Given the description of an element on the screen output the (x, y) to click on. 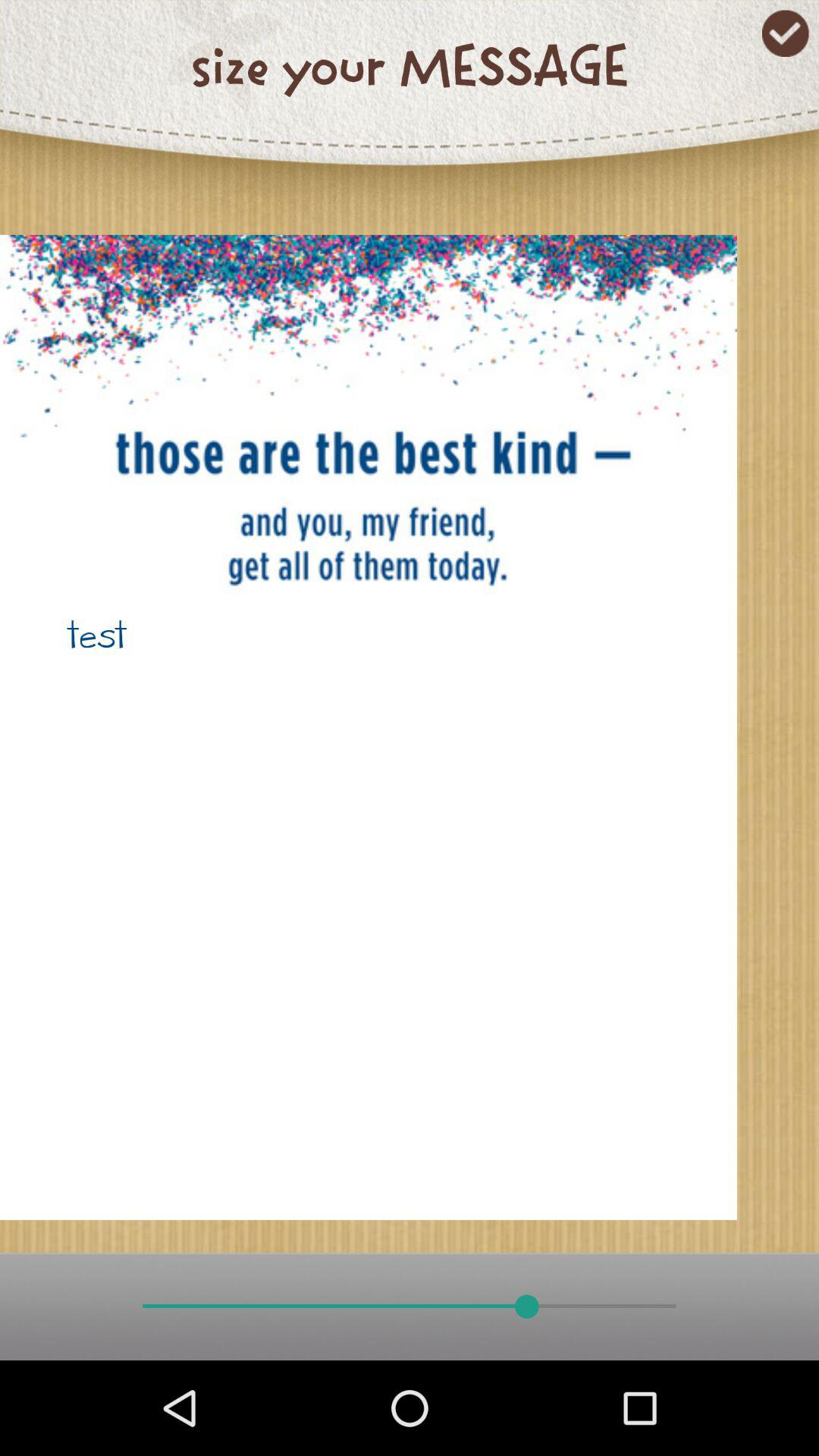
launch item next to the size your message icon (785, 33)
